Given the description of an element on the screen output the (x, y) to click on. 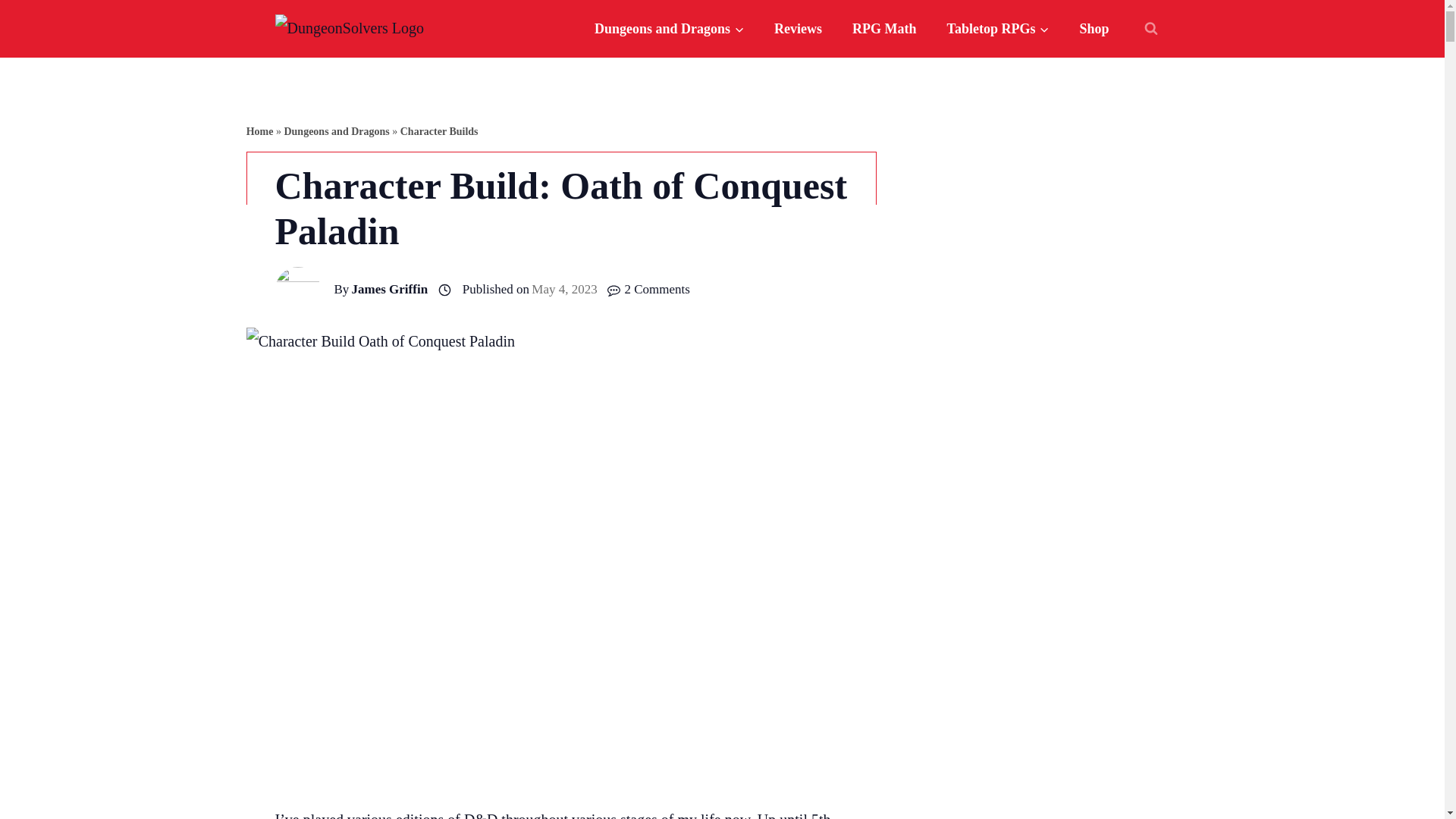
RPG Math (884, 28)
Character Builds (439, 131)
Home (259, 131)
Shop (1094, 28)
Tabletop RPGs (997, 28)
2 Comments (656, 289)
2 Comments (656, 289)
Dungeons and Dragons (335, 131)
Dungeons and Dragons (668, 28)
Reviews (797, 28)
